Given the description of an element on the screen output the (x, y) to click on. 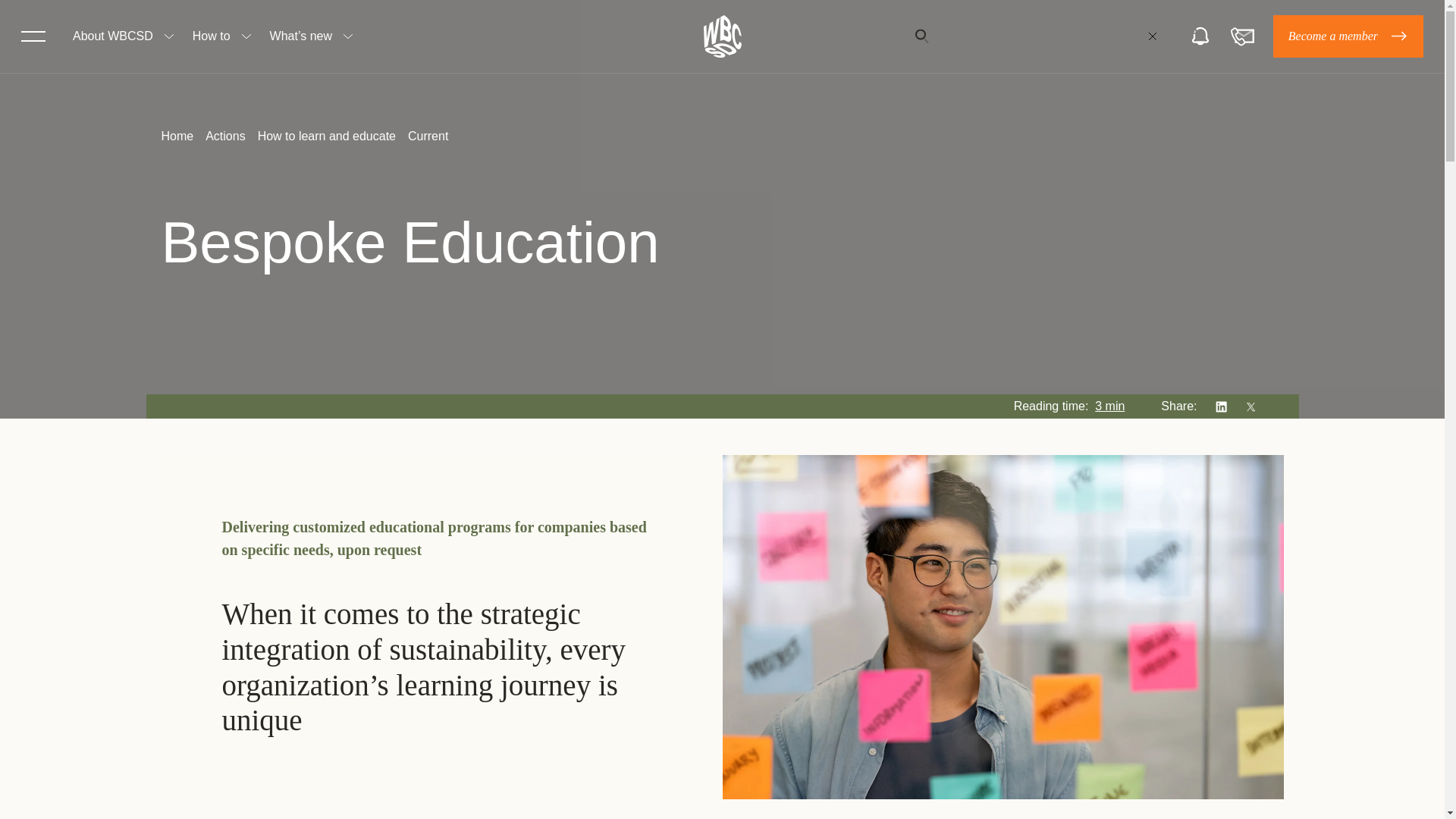
Become a member (1347, 36)
About WBCSD (112, 36)
How to (210, 36)
